Given the description of an element on the screen output the (x, y) to click on. 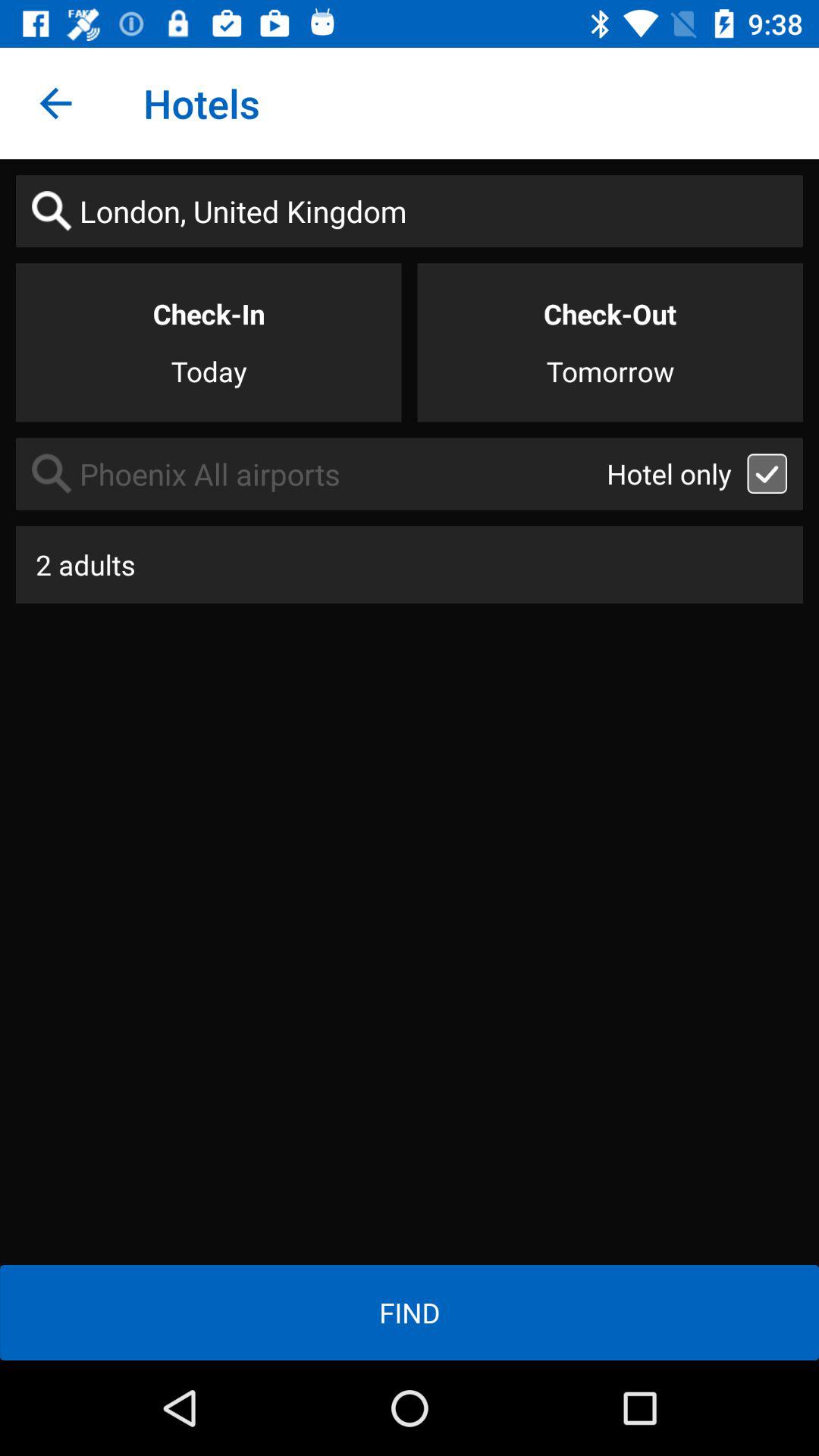
scroll until 2 adults icon (409, 564)
